Given the description of an element on the screen output the (x, y) to click on. 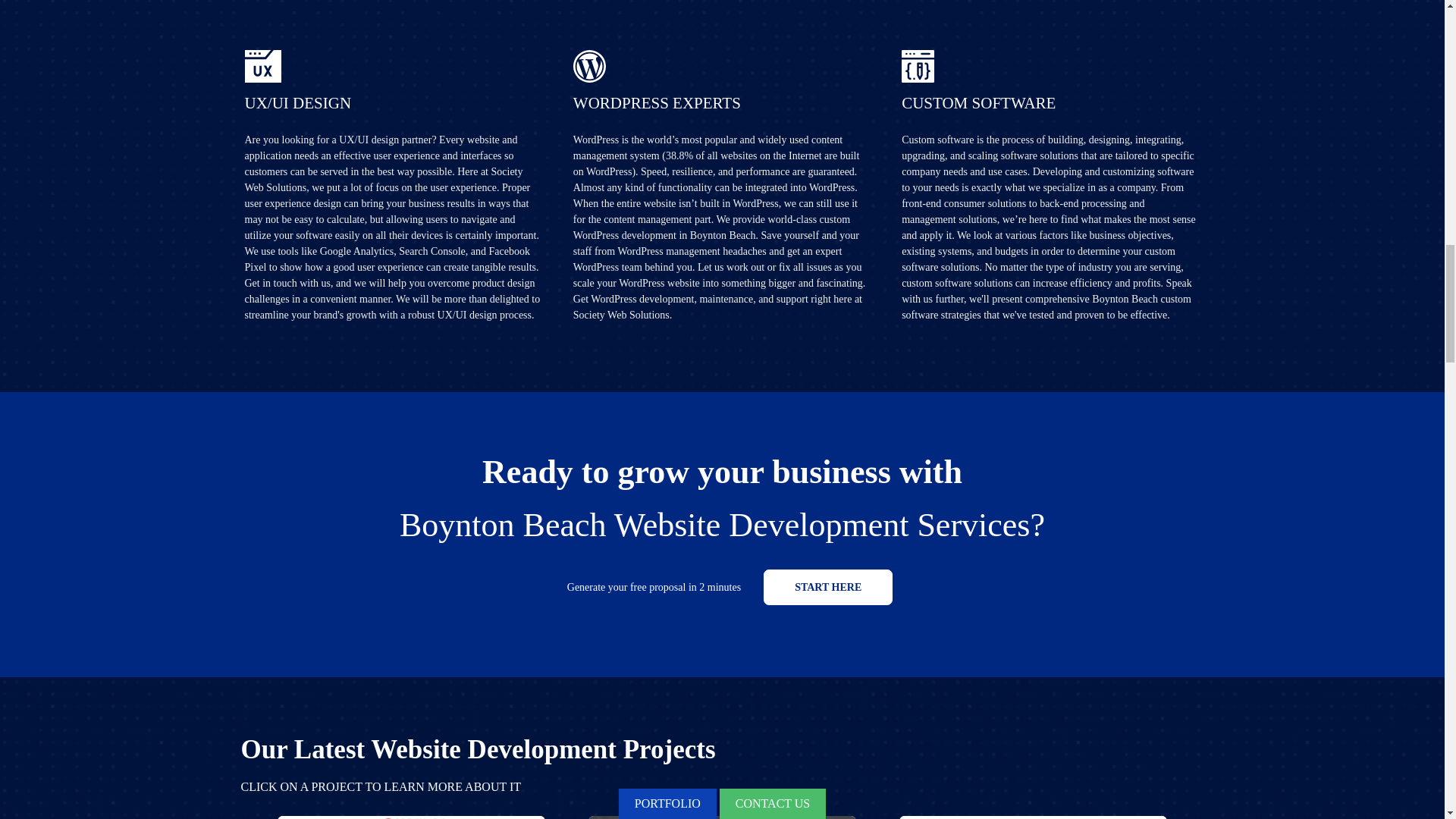
START HERE (827, 587)
